Given the description of an element on the screen output the (x, y) to click on. 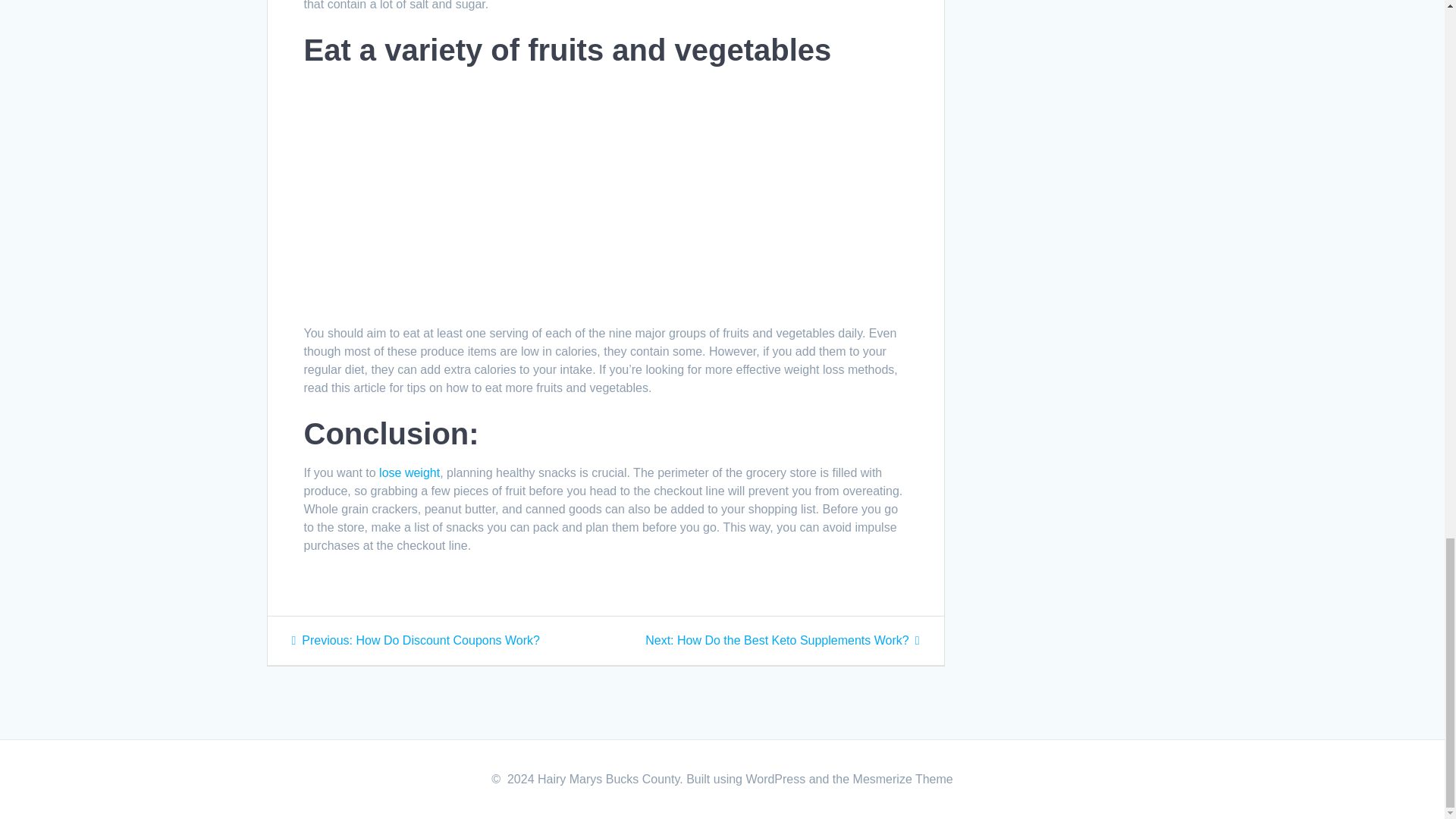
lose weight (781, 640)
YouTube video player (408, 472)
